Given the description of an element on the screen output the (x, y) to click on. 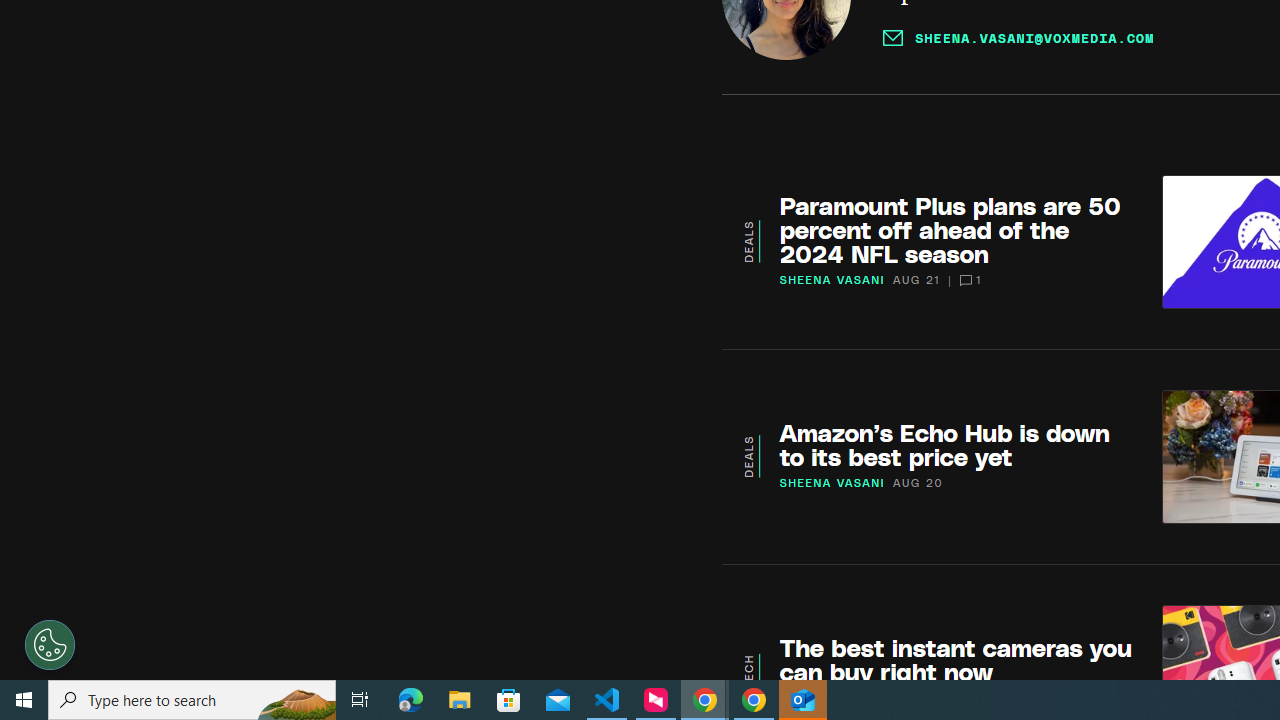
The best instant cameras you can buy right now (955, 659)
SHEENA.VASANI@VOXMEDIA.COM (1018, 37)
SHEENA VASANI (831, 481)
Open Preferences (50, 644)
DEALS (748, 456)
TECH (748, 671)
Comments (966, 280)
